Given the description of an element on the screen output the (x, y) to click on. 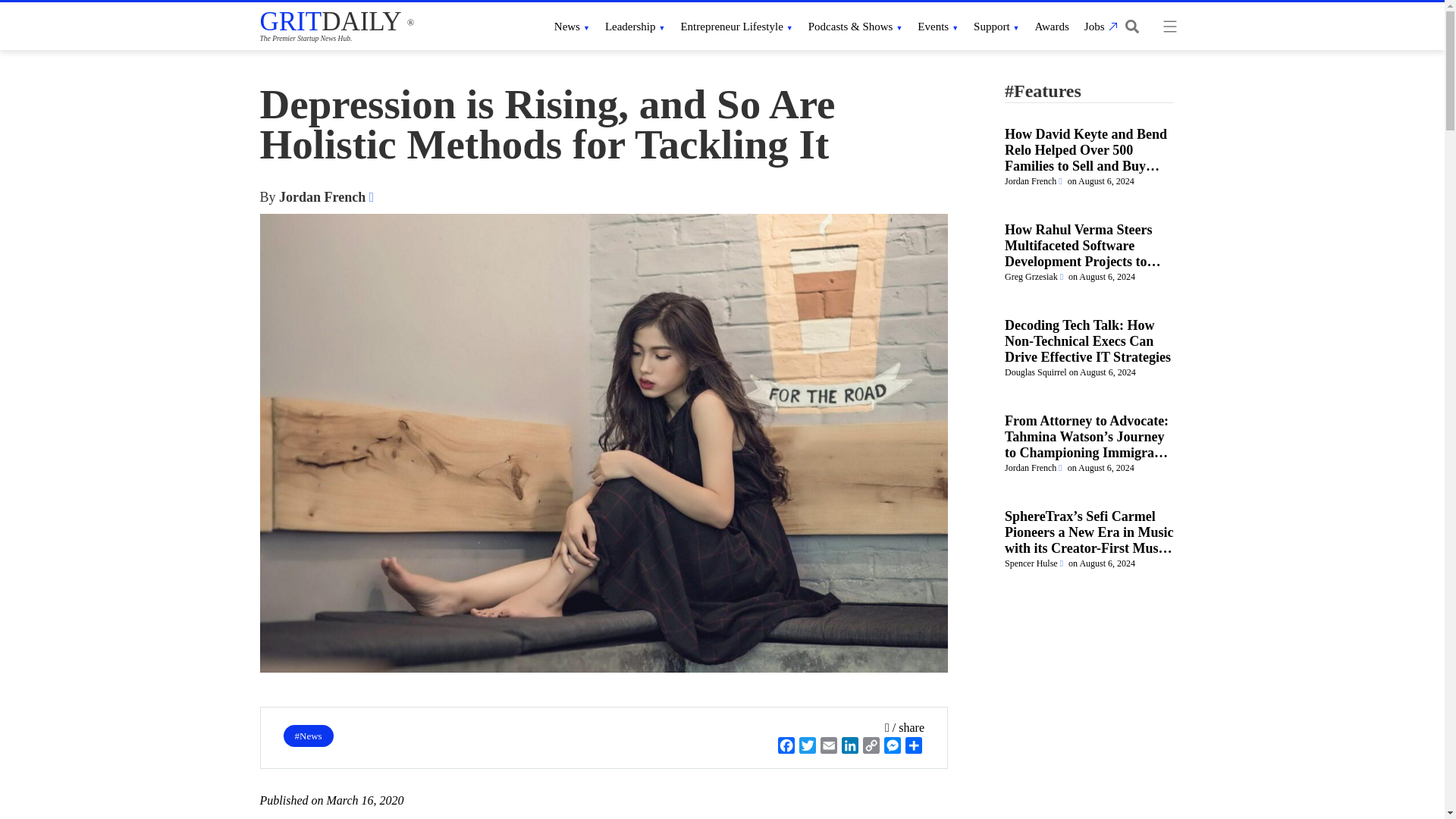
Support (996, 25)
Awards (1051, 25)
Entrepreneur Lifestyle (735, 25)
Leadership (635, 25)
Jobs (1098, 25)
Events (937, 25)
News (571, 25)
